Given the description of an element on the screen output the (x, y) to click on. 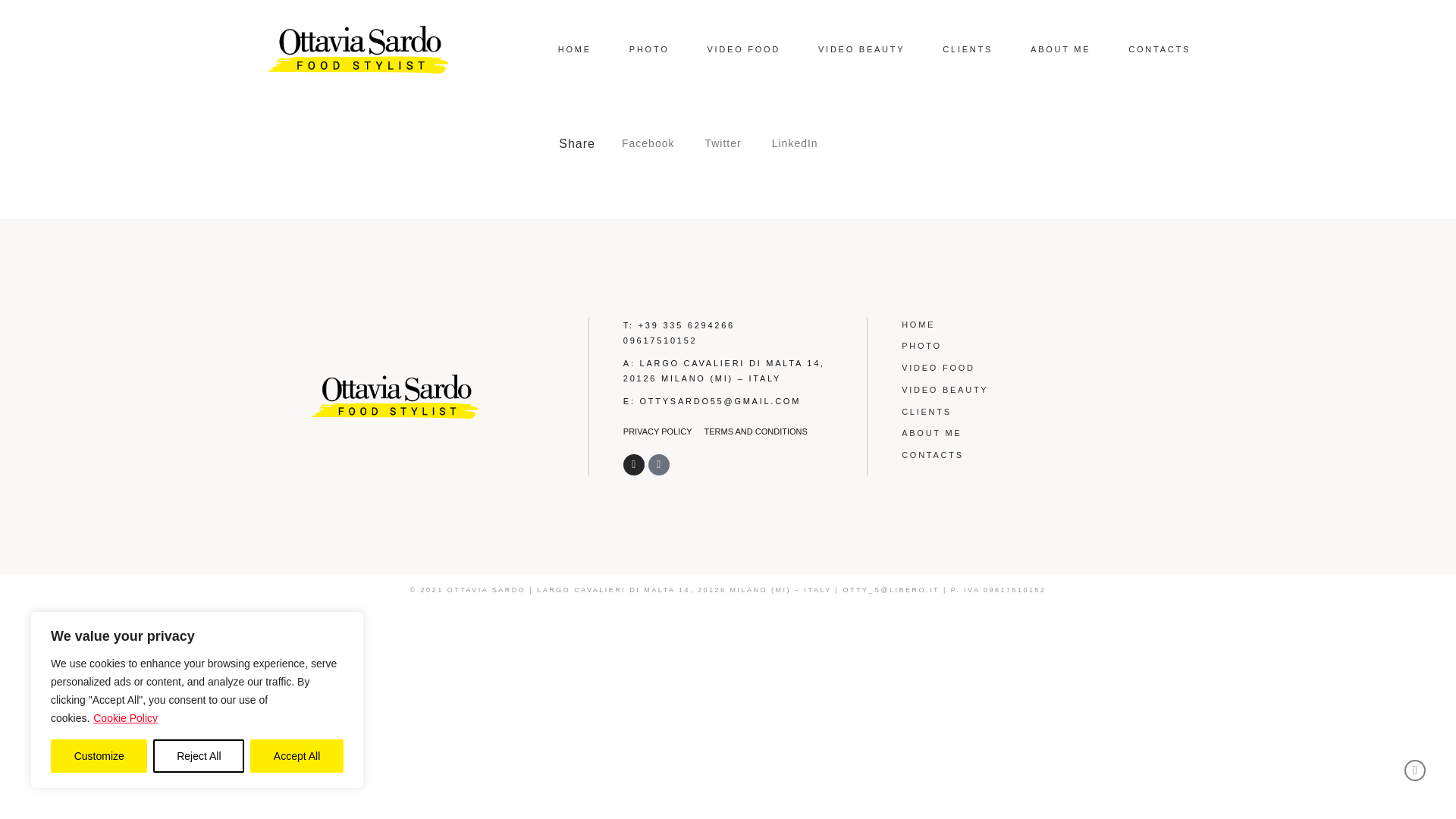
Accept All (296, 756)
Customize (98, 756)
Reject All (198, 756)
PRIVACY POLICY (658, 431)
TERMS AND CONDITIONS (756, 431)
CONTACTS (1159, 49)
CLIENTS (967, 49)
Instagram (634, 464)
PHOTO (648, 49)
Cookie Policy (125, 717)
